Given the description of an element on the screen output the (x, y) to click on. 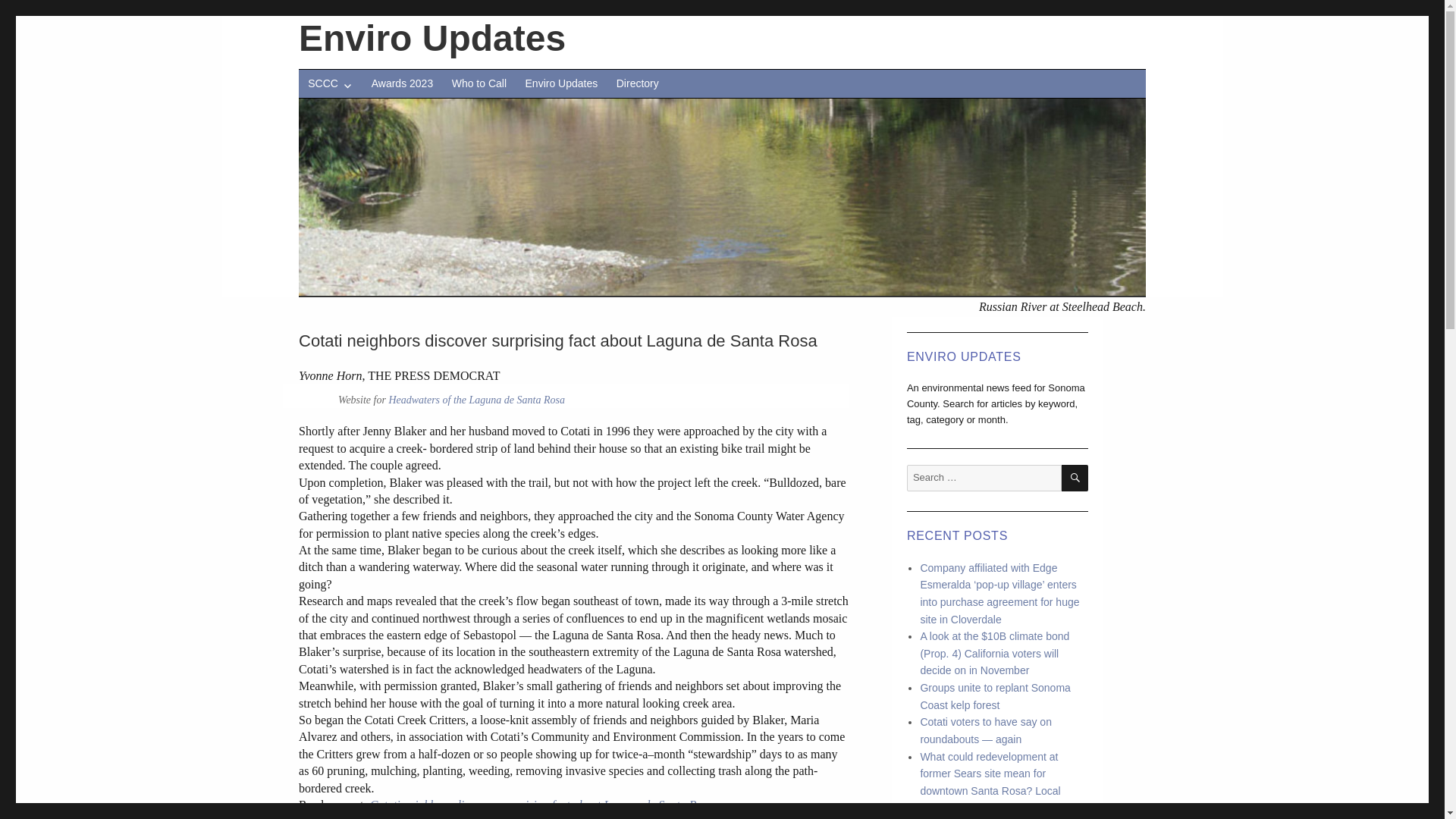
SEARCH (1074, 478)
Who to Call (478, 83)
Directory (637, 83)
Awards 2023 (401, 83)
Enviro Updates (561, 83)
Enviro Updates (432, 38)
Groups unite to replant Sonoma Coast kelp forest (995, 696)
SCCC (329, 83)
